Given the description of an element on the screen output the (x, y) to click on. 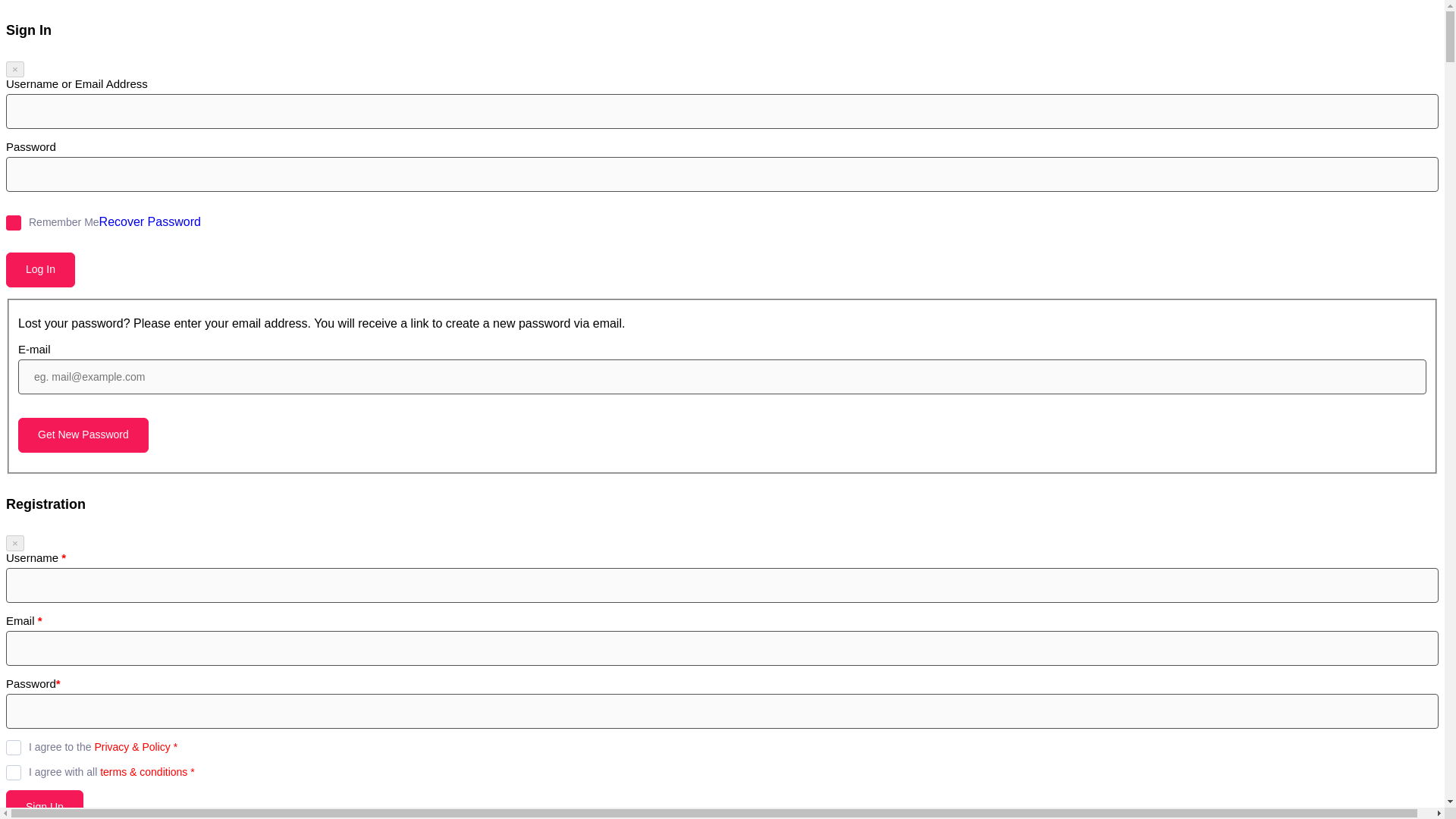
Get New Password (82, 434)
Recover Password (149, 221)
Sign Up (43, 804)
Log In (40, 269)
